Given the description of an element on the screen output the (x, y) to click on. 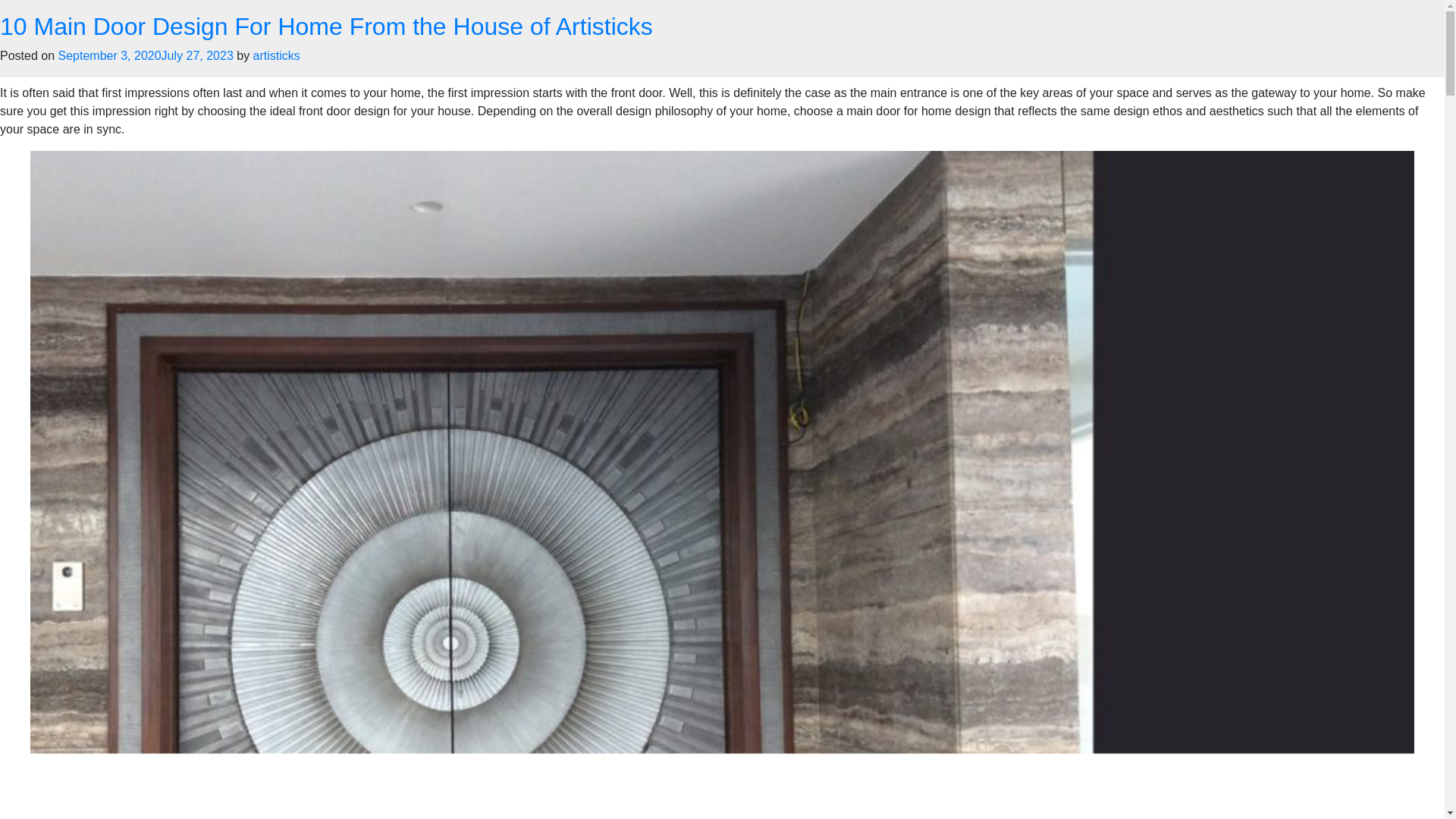
artisticks (276, 55)
10 Main Door Design For Home From the House of Artisticks (326, 26)
September 3, 2020July 27, 2023 (145, 55)
